Given the description of an element on the screen output the (x, y) to click on. 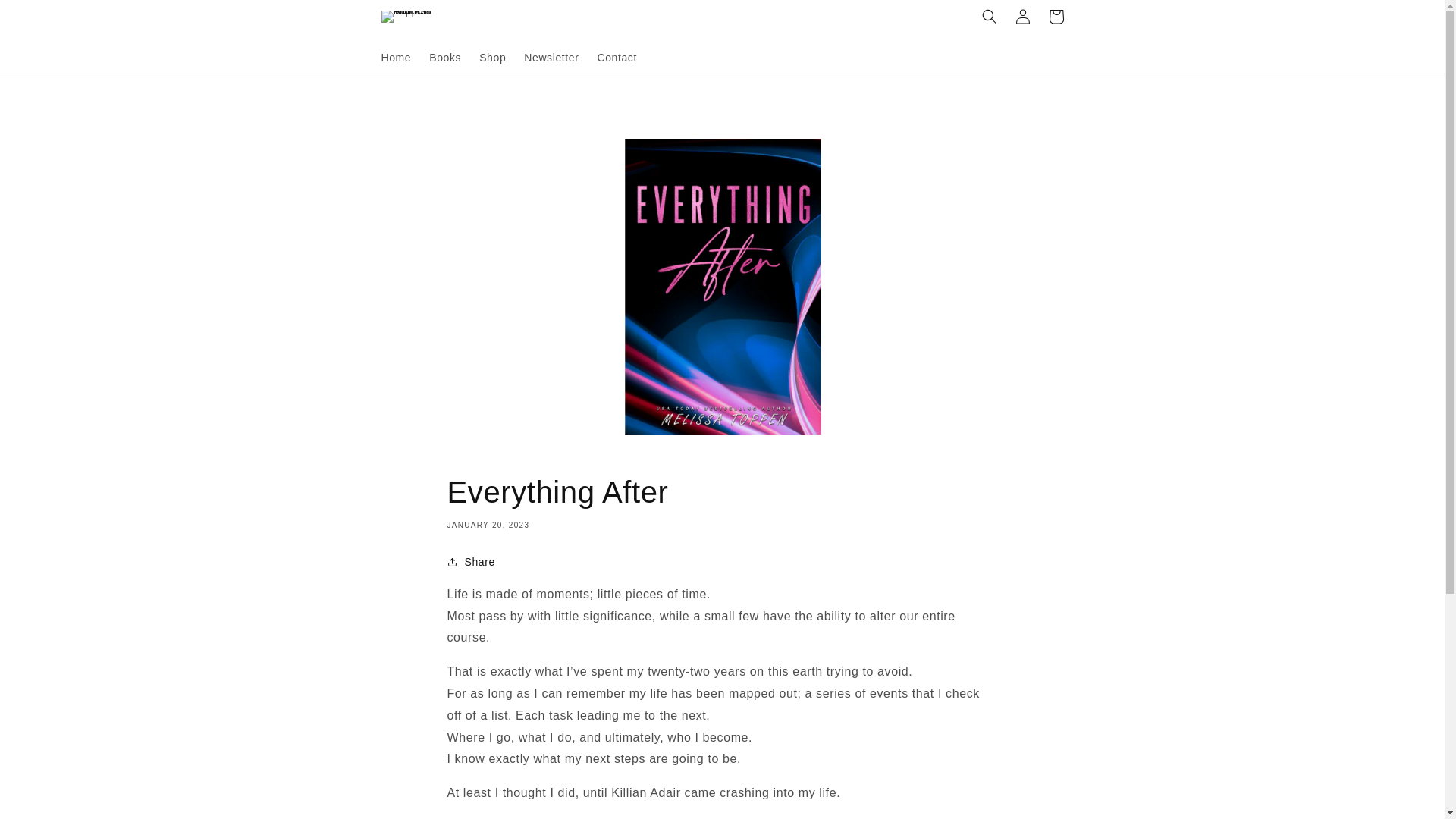
Skip to content (45, 17)
Books (445, 56)
Shop (492, 56)
Contact (616, 56)
Log in (1022, 16)
Home (395, 56)
Cart (1055, 16)
Newsletter (551, 56)
